Given the description of an element on the screen output the (x, y) to click on. 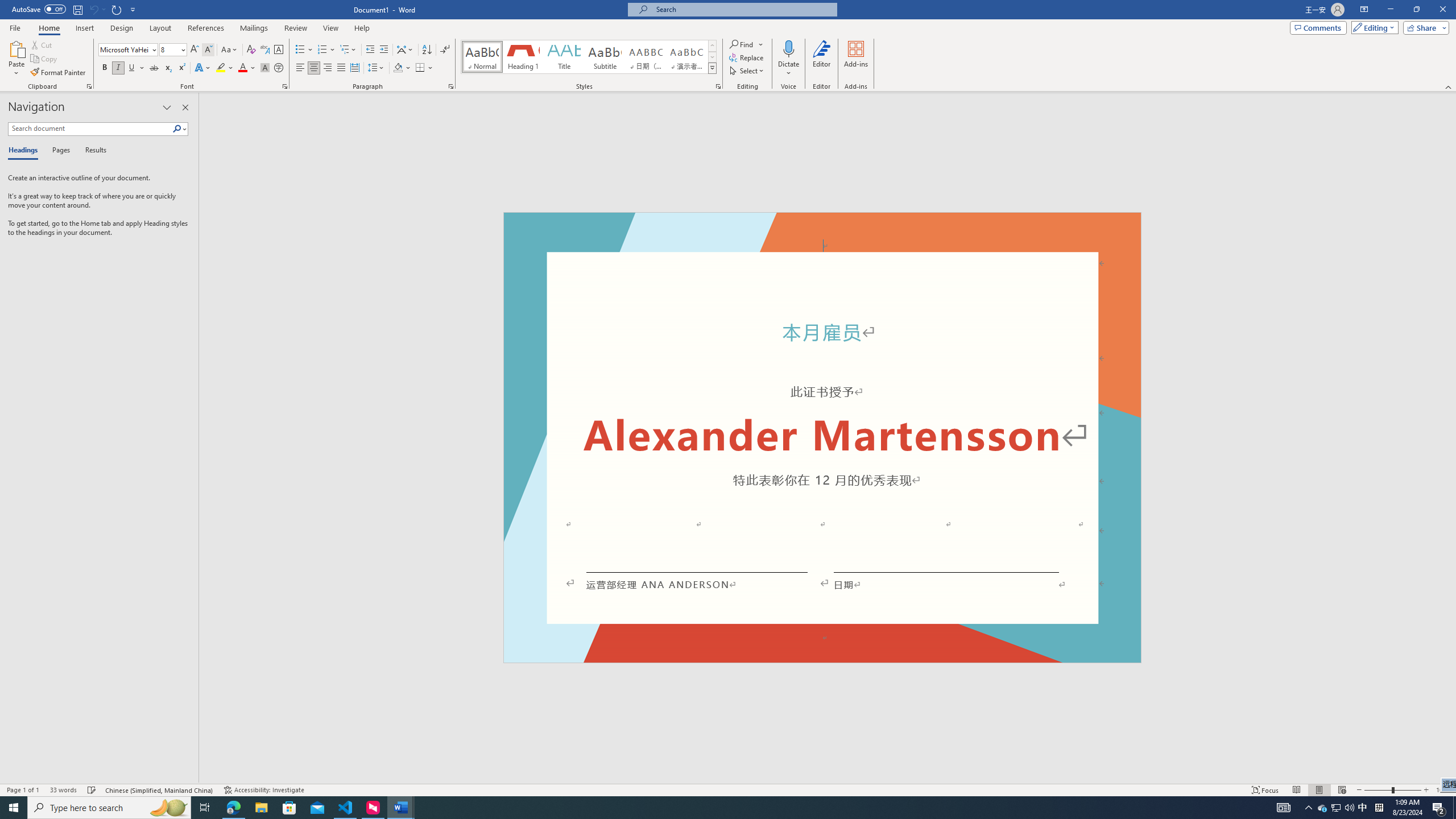
Show/Hide Editing Marks (444, 49)
Bullets (304, 49)
Character Border (278, 49)
Heading 1 (522, 56)
Replace... (747, 56)
Sort... (426, 49)
Minimize (1390, 9)
Numbering (326, 49)
Font Color Red (241, 67)
Close (1442, 9)
Zoom In (1426, 790)
Insert (83, 28)
Change Case (229, 49)
Font Size (169, 49)
Open (182, 49)
